Given the description of an element on the screen output the (x, y) to click on. 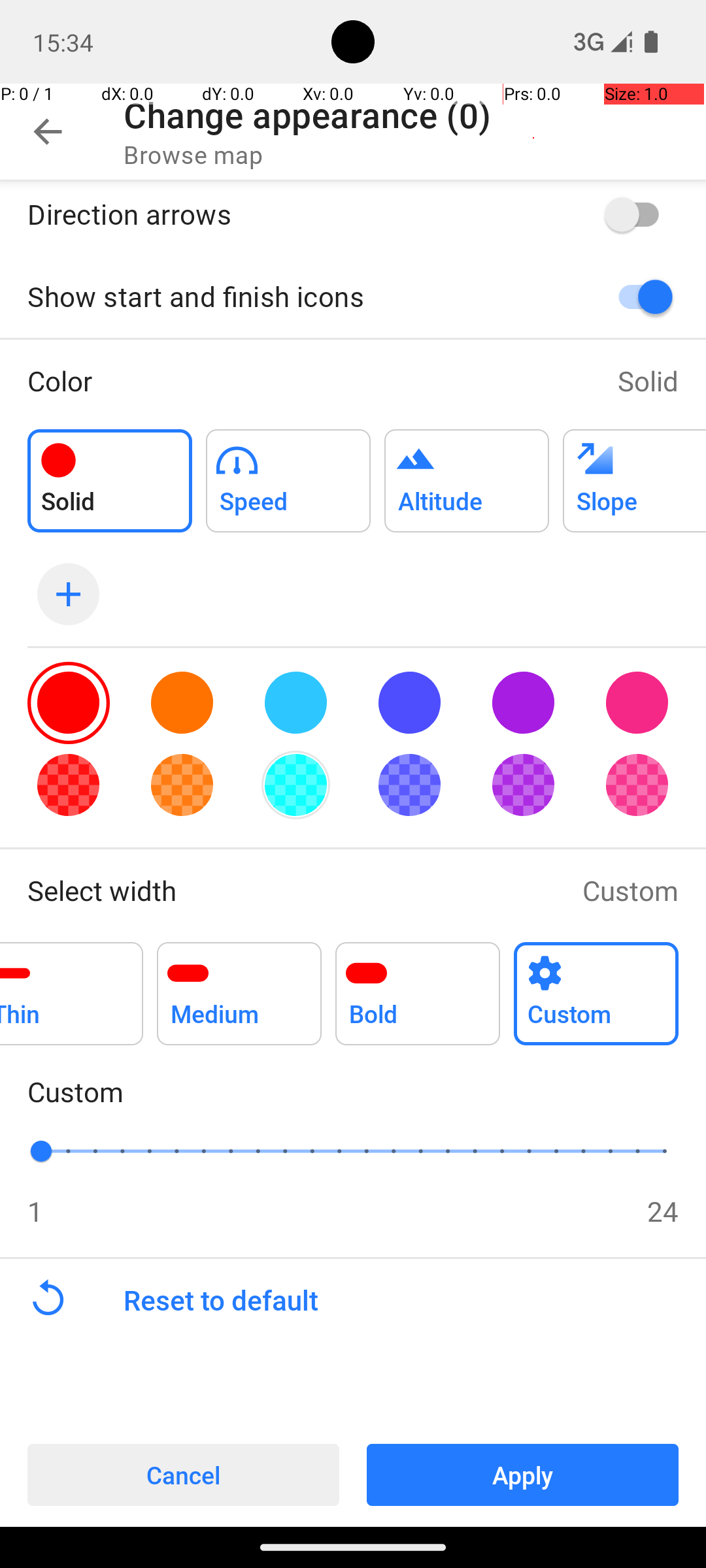
Change appearance (0) Element type: android.widget.TextView (307, 114)
Browse map Element type: android.widget.TextView (193, 154)
Solid Element type: android.widget.TextView (647, 380)
Select width Element type: android.widget.TextView (290, 889)
Custom Element type: android.widget.TextView (630, 889)
Direction arrows Element type: android.widget.TextView (297, 213)
Show start and finish icons Element type: android.widget.TextView (297, 295)
Value, 1 Element type: android.widget.SeekBar (54, 1151)
Reset to default Element type: android.widget.TextView (414, 1299)
Add to group Element type: android.widget.ImageView (109, 480)
Speed Element type: android.widget.TextView (287, 473)
Altitude Element type: android.widget.TextView (466, 473)
Slope Element type: android.widget.TextView (634, 473)
Thin Element type: android.widget.TextView (71, 986)
Medium Element type: android.widget.TextView (238, 986)
